Given the description of an element on the screen output the (x, y) to click on. 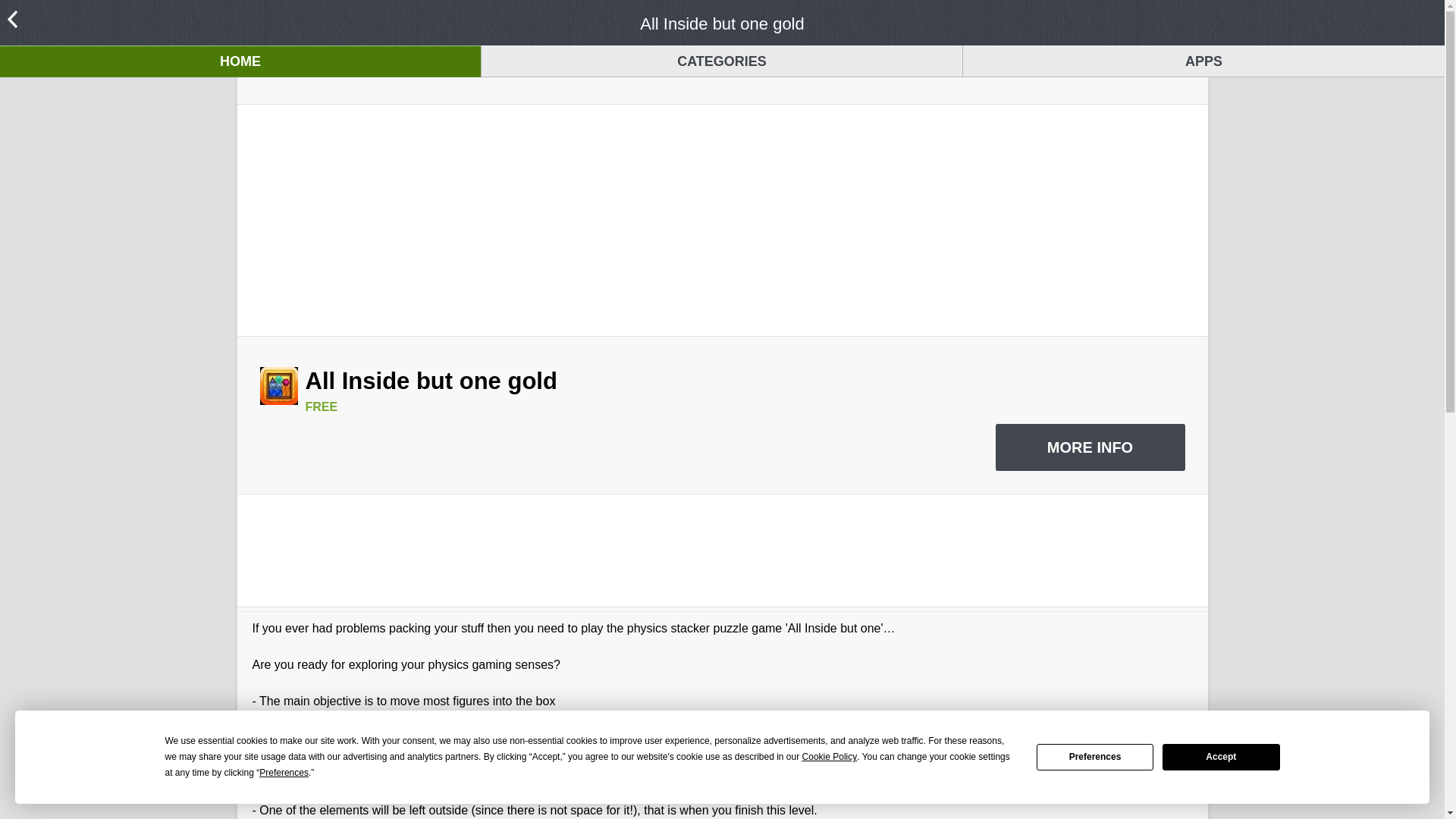
Preferences (1094, 756)
CATEGORIES (721, 60)
HOME (240, 60)
Cookie Policy (829, 756)
Accept (1220, 756)
MORE INFO (1089, 447)
Preferences (283, 772)
